Given the description of an element on the screen output the (x, y) to click on. 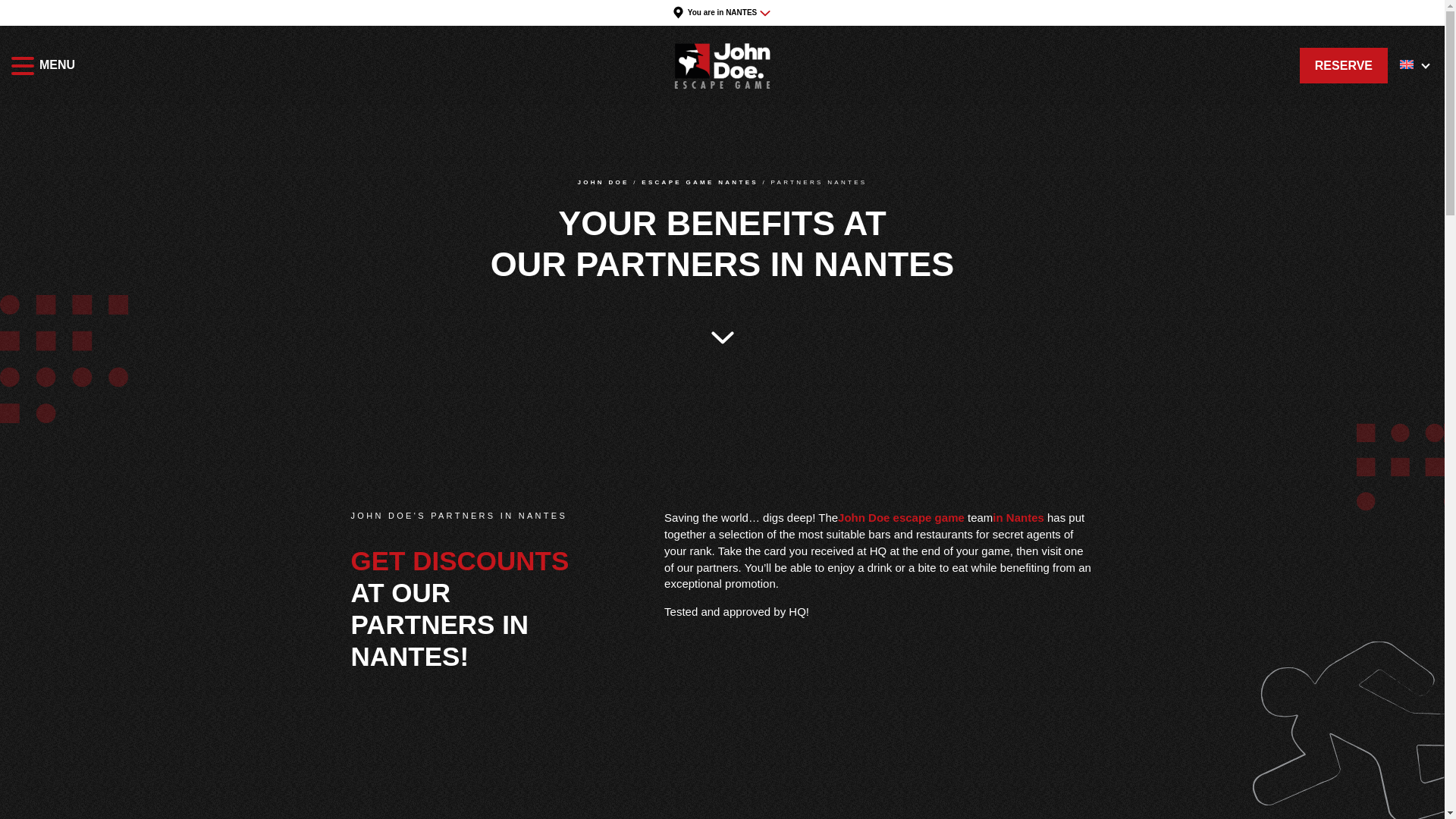
RESERVE (1343, 64)
MENU (22, 65)
JOHN DOE (603, 186)
John Doe escape game (900, 521)
ESCAPE GAME NANTES (700, 186)
in Nantes (1017, 521)
